Given the description of an element on the screen output the (x, y) to click on. 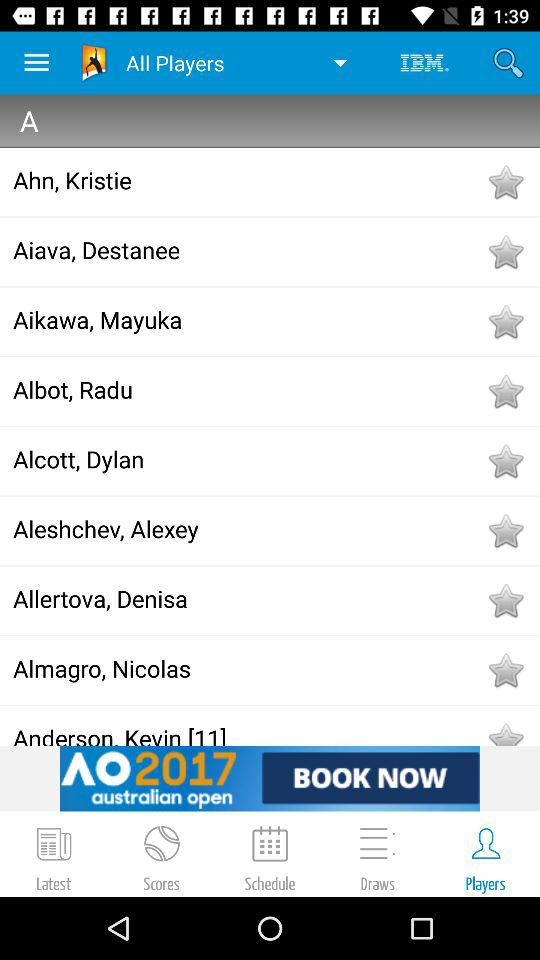
select option to book (270, 778)
